Given the description of an element on the screen output the (x, y) to click on. 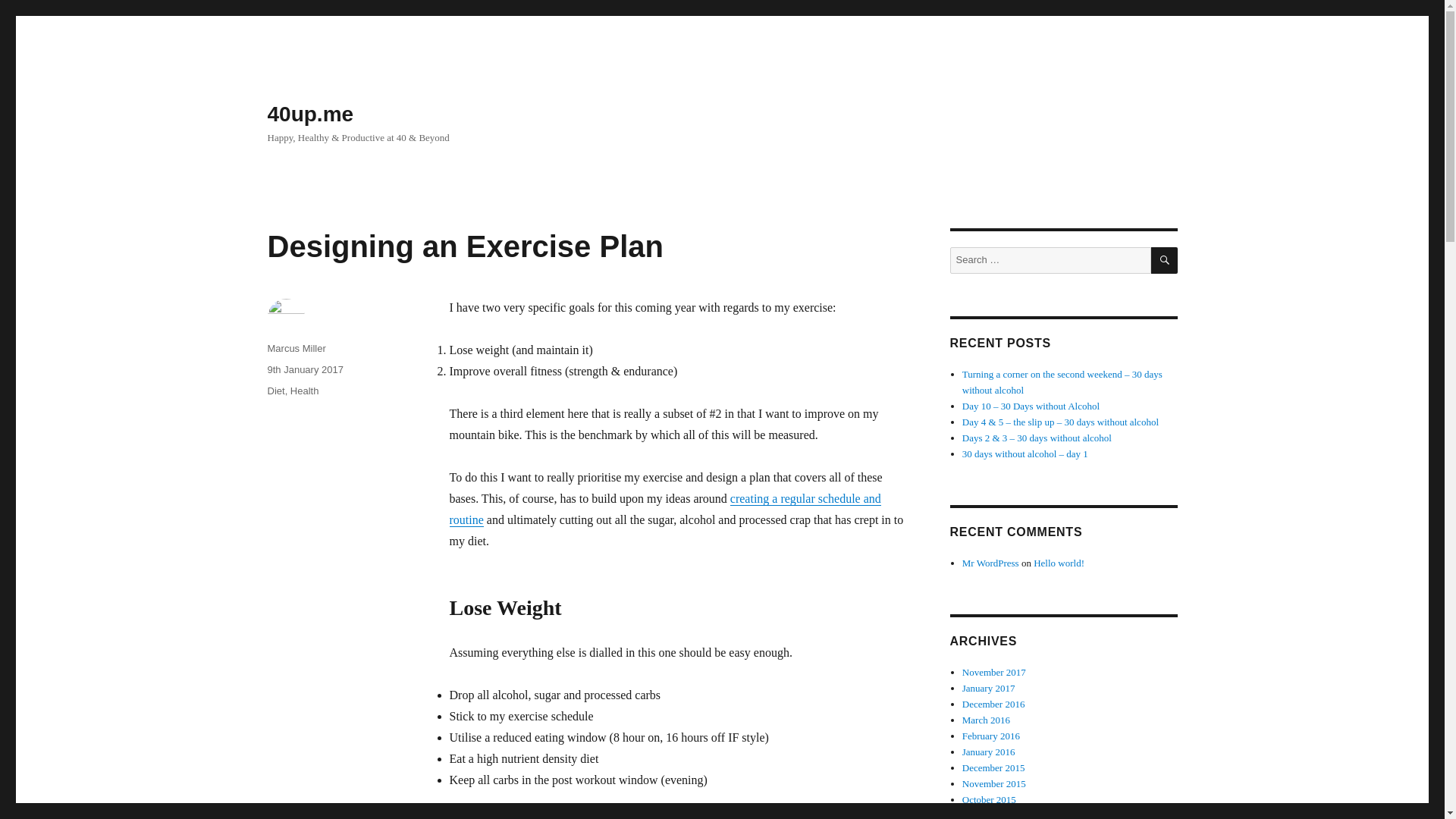
Mr WordPress (990, 562)
9th January 2017 (304, 369)
SEARCH (1164, 260)
Hello world! (1058, 562)
January 2016 (988, 751)
October 2015 (989, 799)
Marcus Miller (295, 348)
Diet (274, 390)
creating a regular schedule and routine (664, 509)
December 2015 (993, 767)
